Given the description of an element on the screen output the (x, y) to click on. 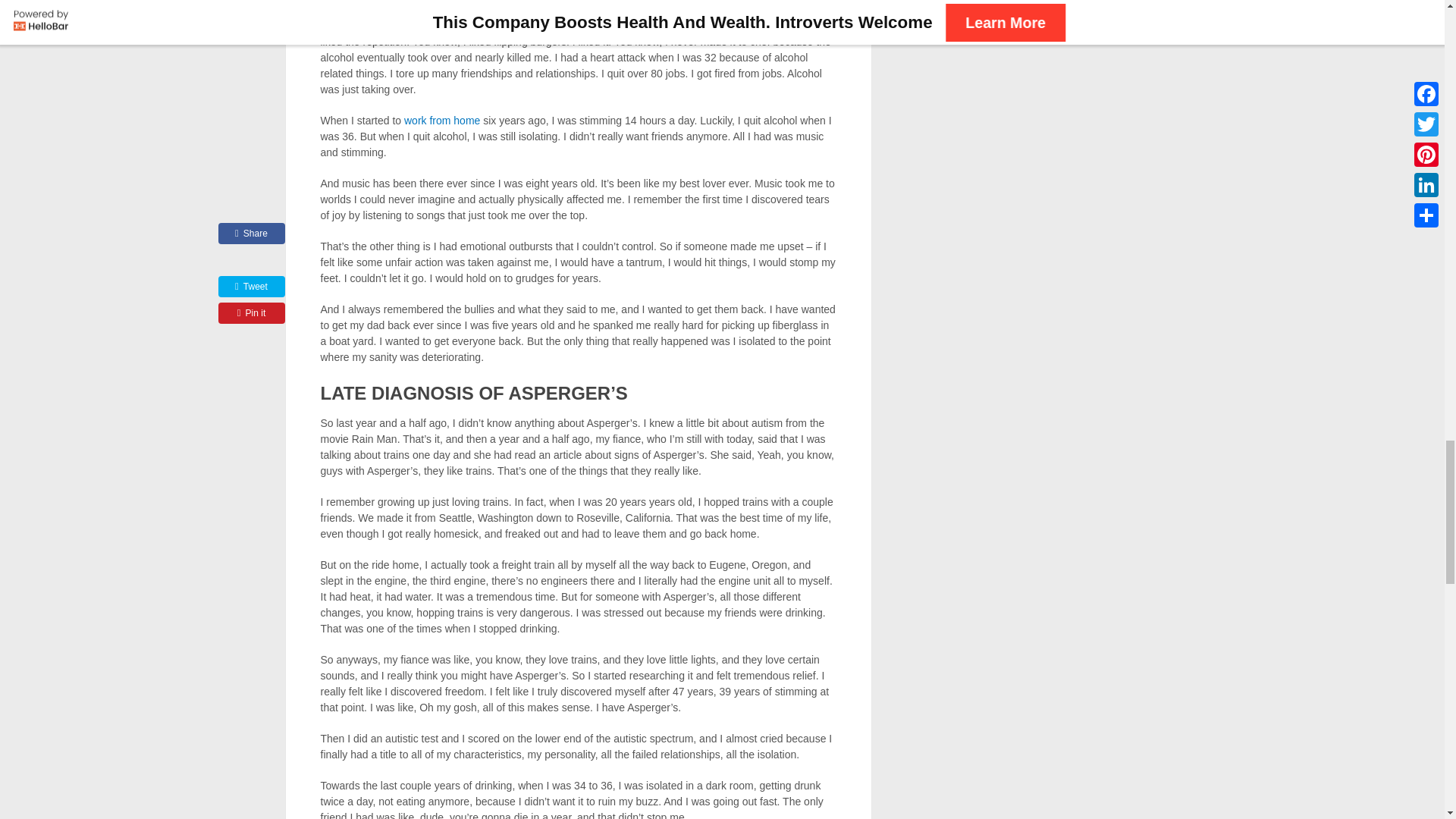
work from home (442, 120)
